Given the description of an element on the screen output the (x, y) to click on. 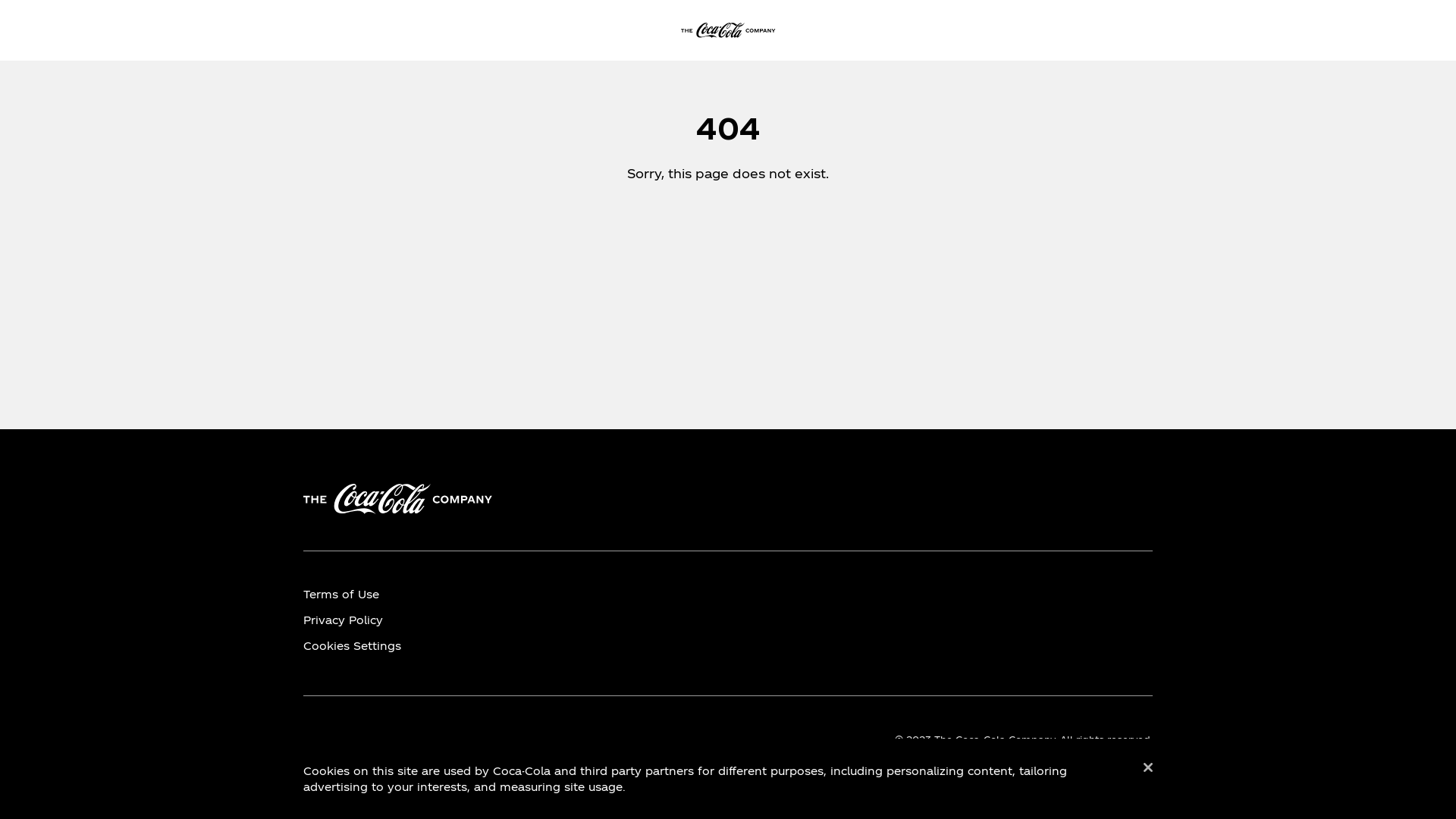
Terms of Use Element type: text (341, 593)
Privacy Policy Element type: text (342, 619)
Cookies Settings Element type: text (352, 645)
